Given the description of an element on the screen output the (x, y) to click on. 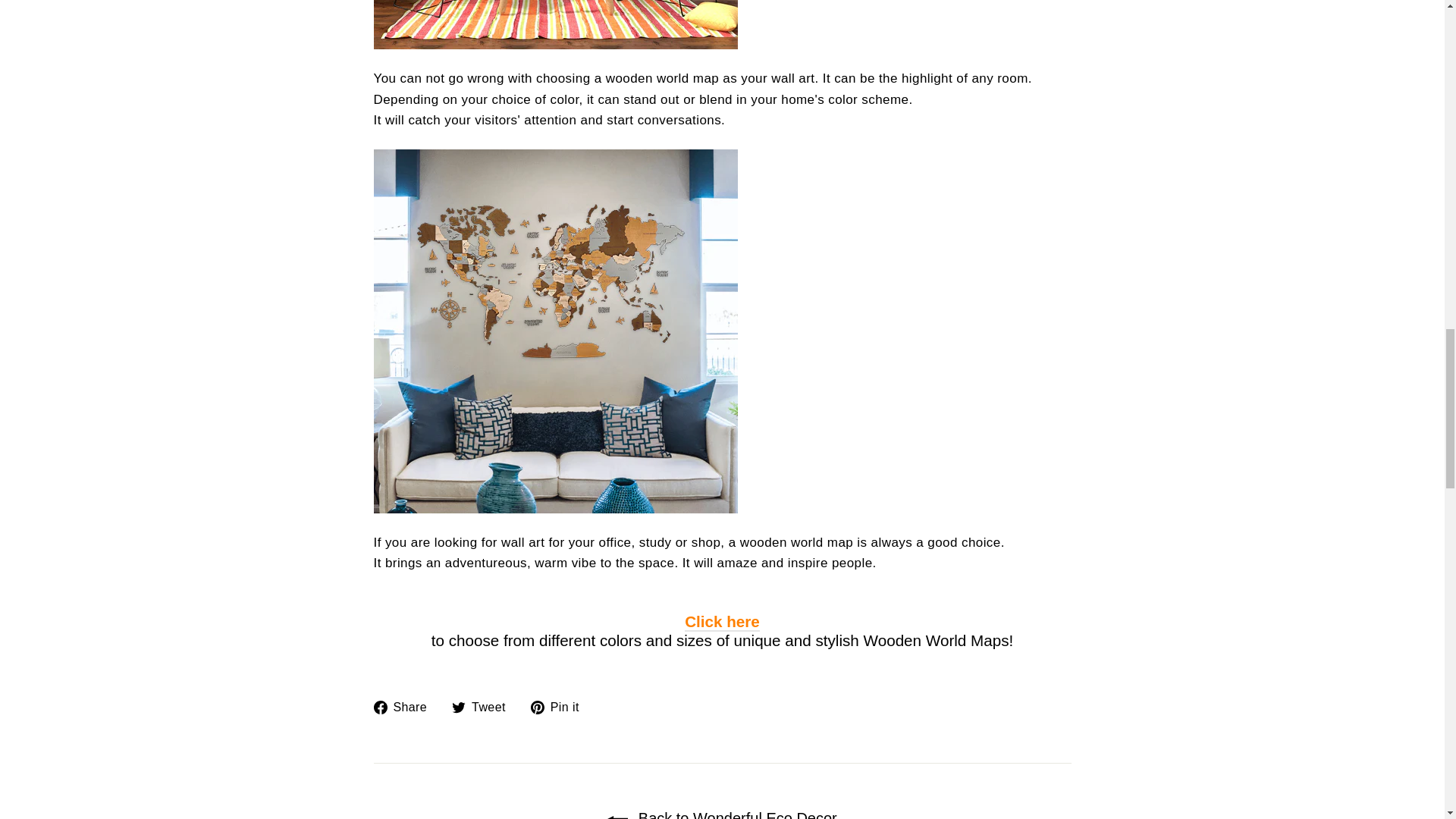
Pin on Pinterest (561, 706)
Share on Facebook (483, 706)
icon-left-arrow Back to Wonderful Eco Decor (405, 706)
icon-left-arrow (722, 814)
Click here (617, 815)
twitter (561, 706)
Tweet on Twitter (722, 621)
